Given the description of an element on the screen output the (x, y) to click on. 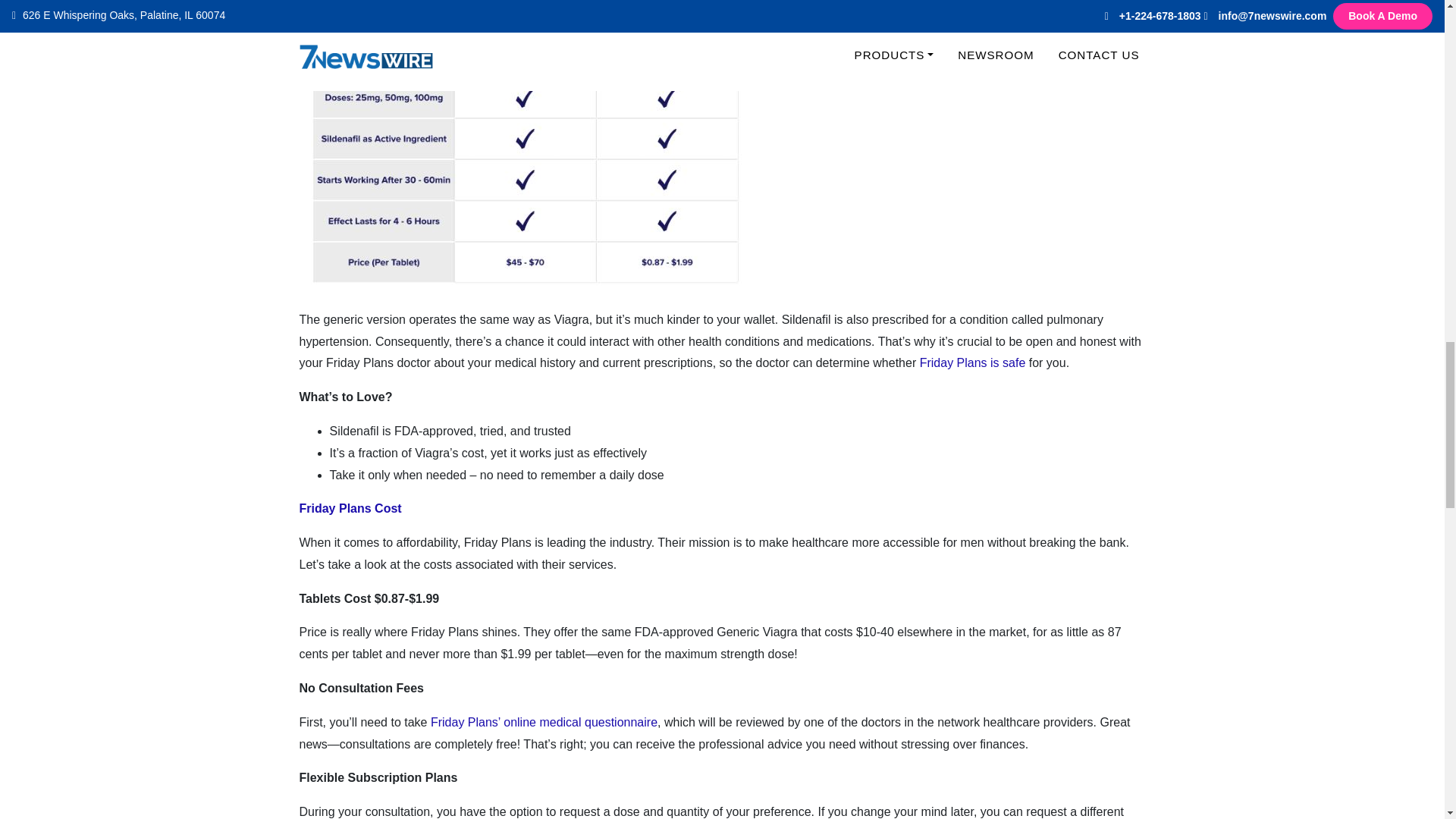
Friday Plans Cost (349, 508)
Friday Plans is safe (973, 362)
